Given the description of an element on the screen output the (x, y) to click on. 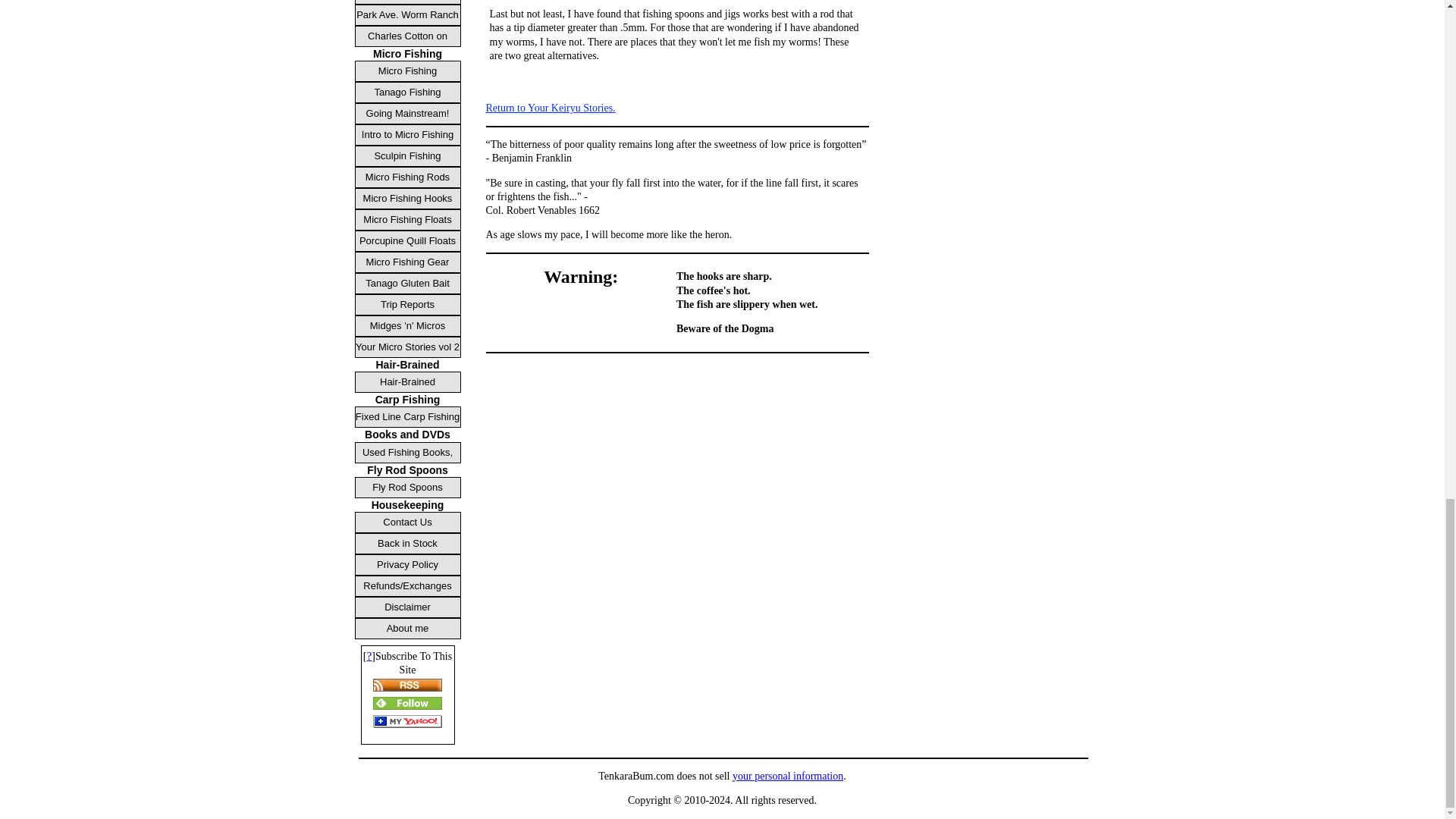
Red Wigglers (408, 2)
Return to Your Keiryu Stories. (549, 107)
